Given the description of an element on the screen output the (x, y) to click on. 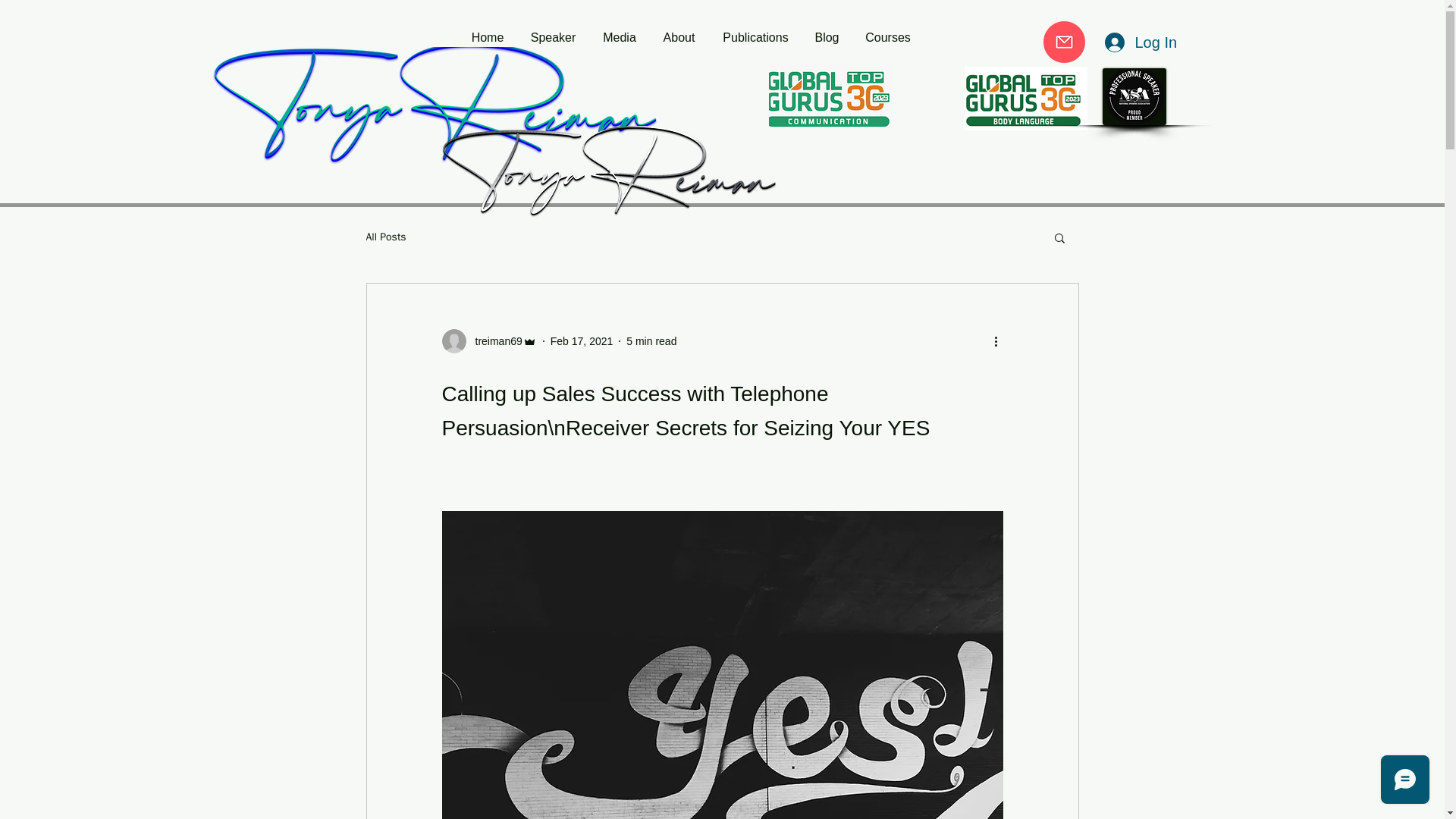
Home (487, 37)
Courses (887, 37)
All Posts (385, 237)
5 min read (651, 340)
Media (619, 37)
Feb 17, 2021 (581, 340)
Publications (754, 37)
Tonya in the News (1052, 31)
Log In (1139, 42)
Speaker (552, 37)
